Given the description of an element on the screen output the (x, y) to click on. 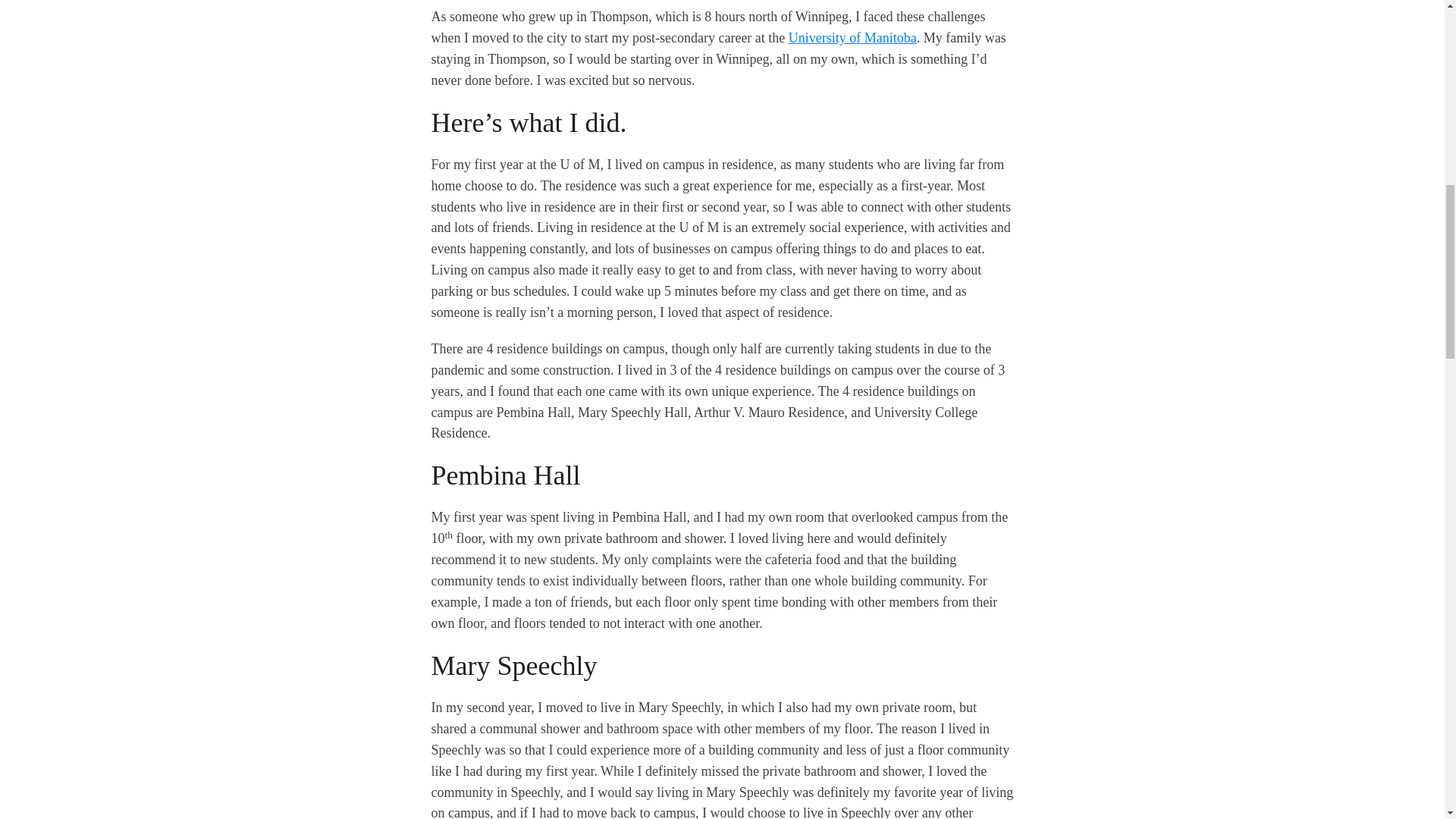
University of Manitoba (853, 37)
